Given the description of an element on the screen output the (x, y) to click on. 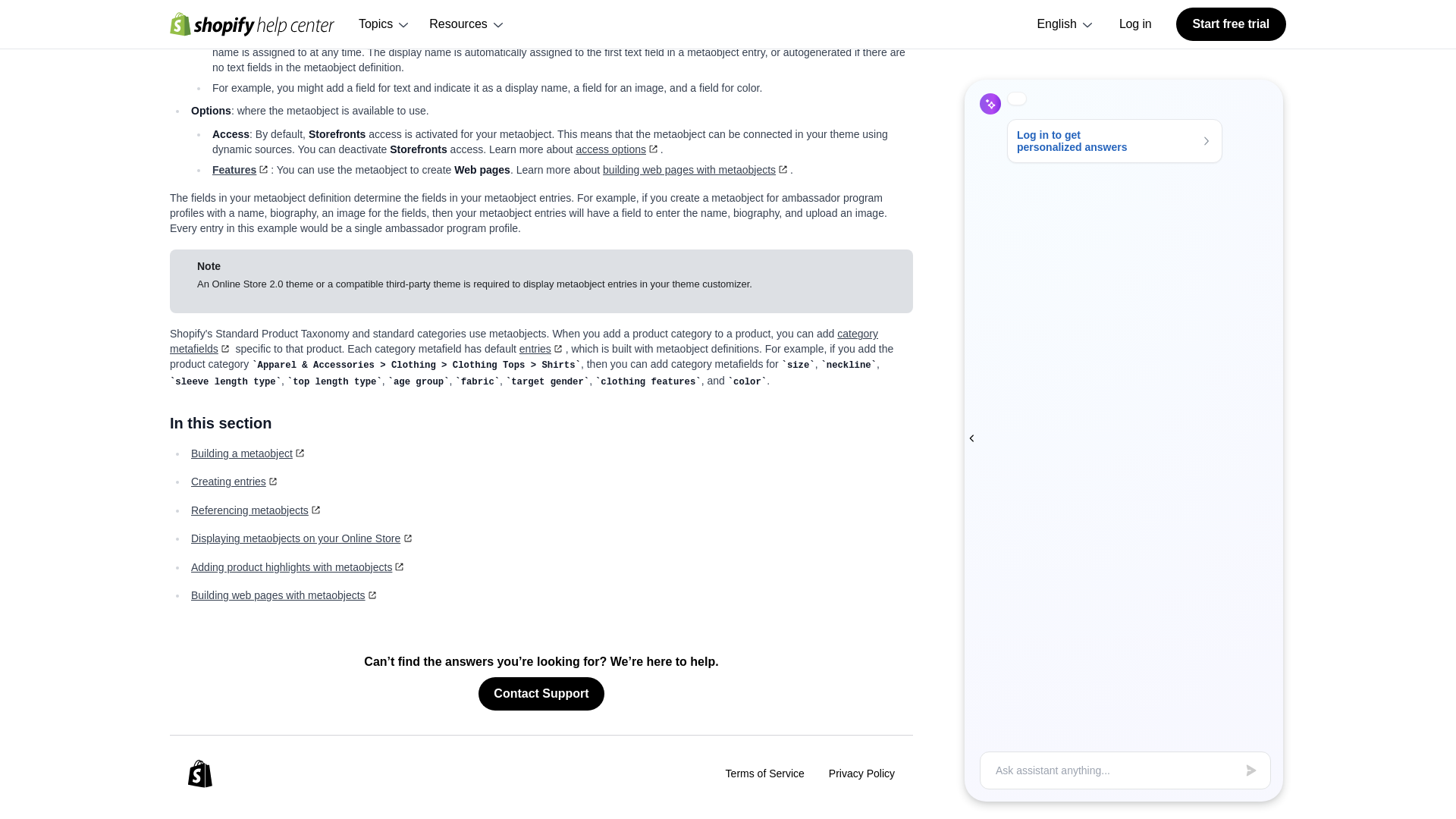
access options (617, 149)
Terms of Service (765, 772)
Log in to get personalized answers (1125, 126)
Referencing metaobjects (256, 510)
Contact Support (541, 693)
entries (542, 348)
Building a metaobject (248, 453)
Features (241, 169)
Building web pages with metaobjects (284, 594)
Privacy Policy (861, 772)
